Given the description of an element on the screen output the (x, y) to click on. 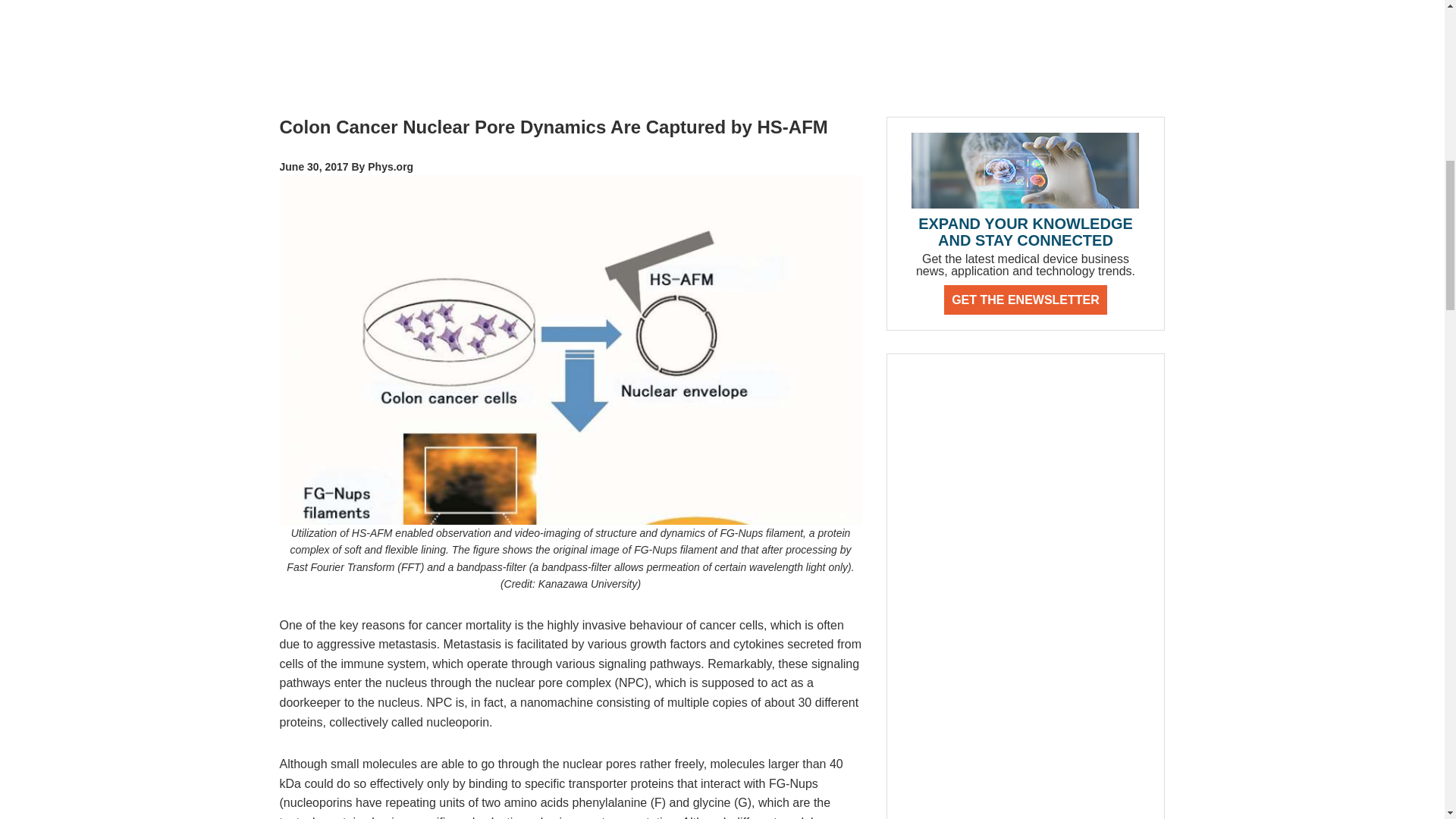
3rd party ad content (722, 47)
